Given the description of an element on the screen output the (x, y) to click on. 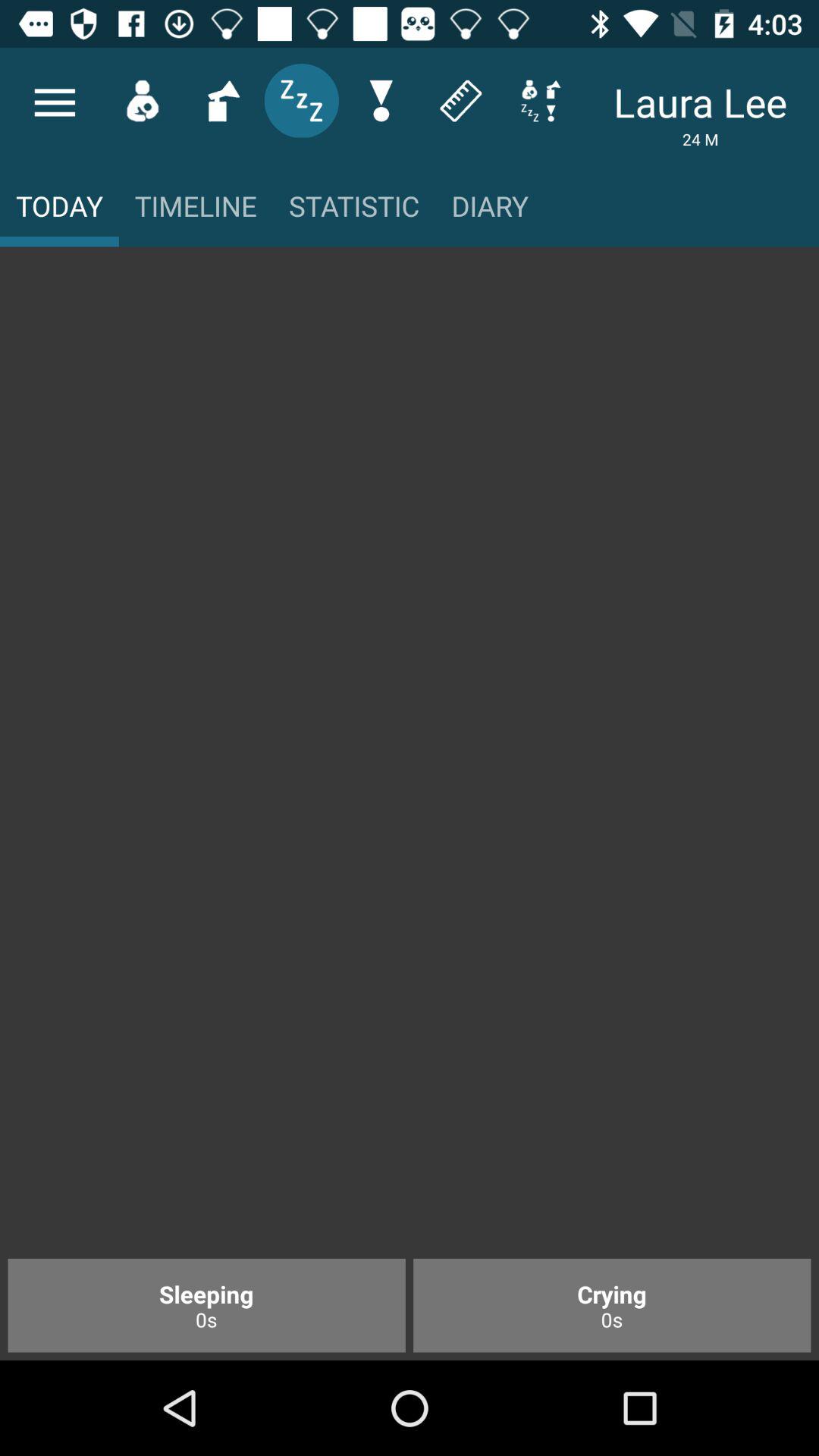
click item above sleeping
0s icon (409, 760)
